Given the description of an element on the screen output the (x, y) to click on. 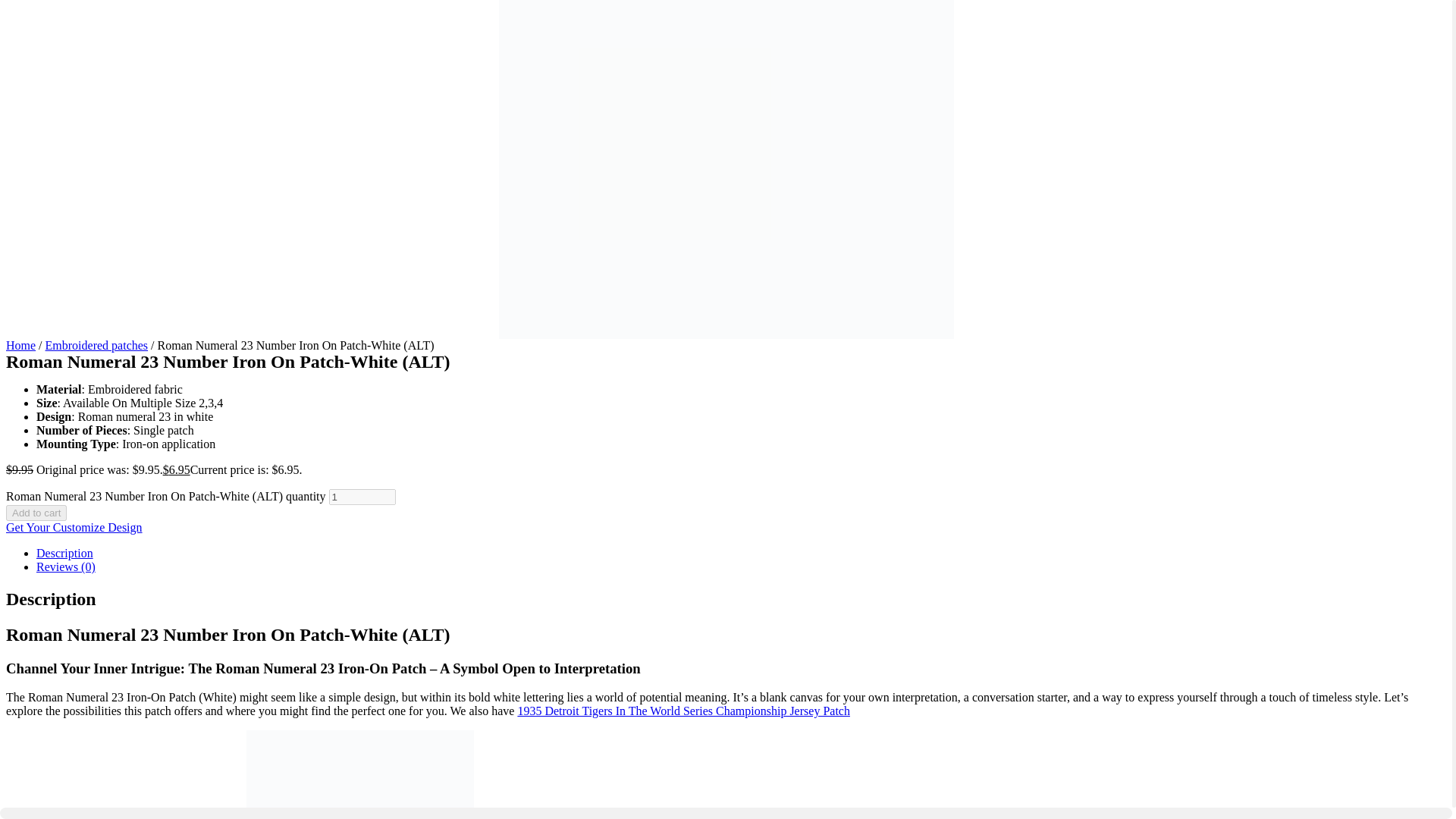
Get Your Customize Design (73, 526)
Embroidered patches (96, 345)
Description (64, 553)
1 (362, 496)
Add to cart (35, 512)
Home (19, 345)
